Given the description of an element on the screen output the (x, y) to click on. 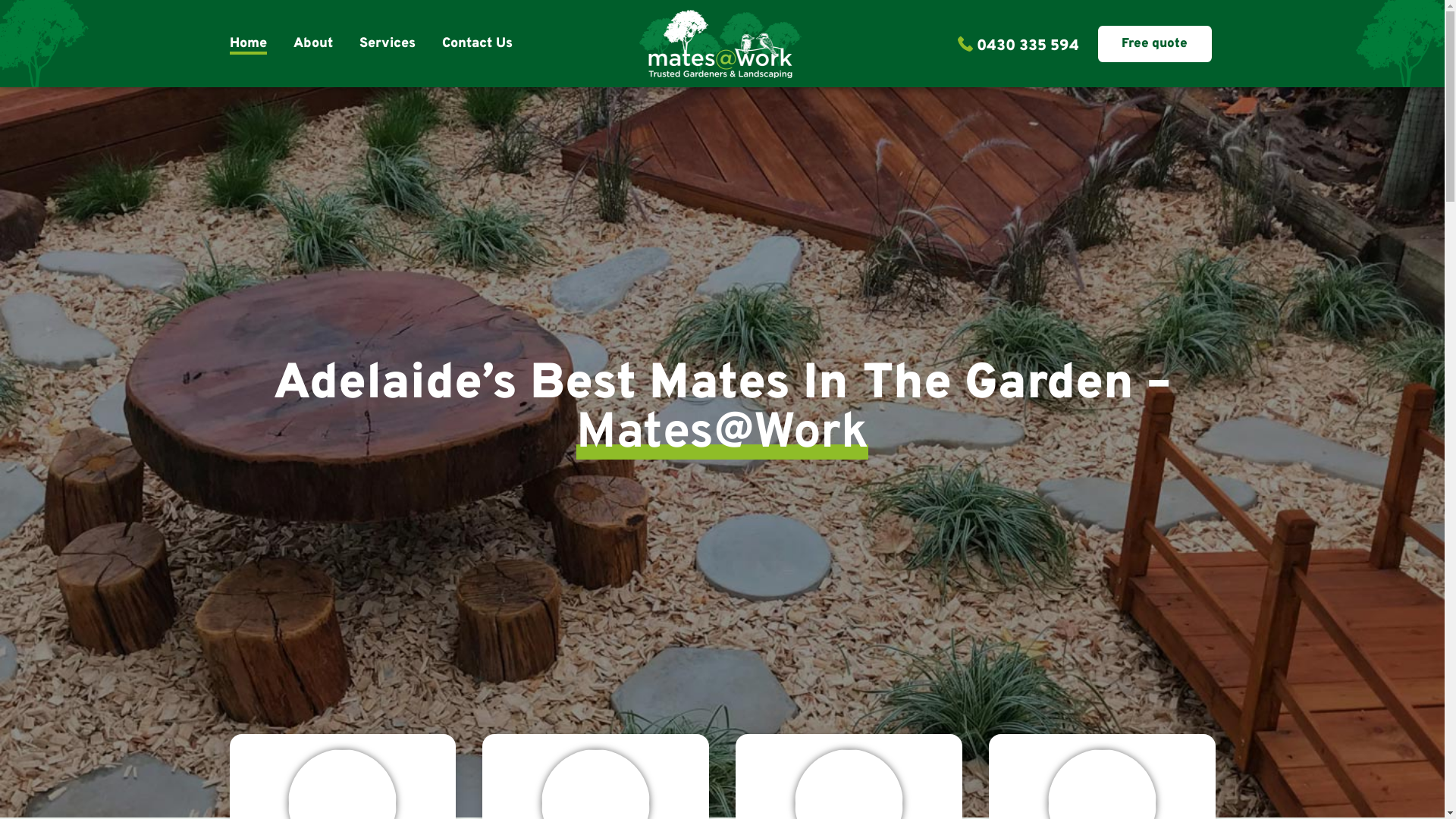
0430 335 594 Element type: text (1018, 43)
About Element type: text (312, 43)
Services Element type: text (387, 43)
Free quote Element type: text (1154, 43)
Contact Us Element type: text (476, 43)
Home Element type: text (247, 43)
